Given the description of an element on the screen output the (x, y) to click on. 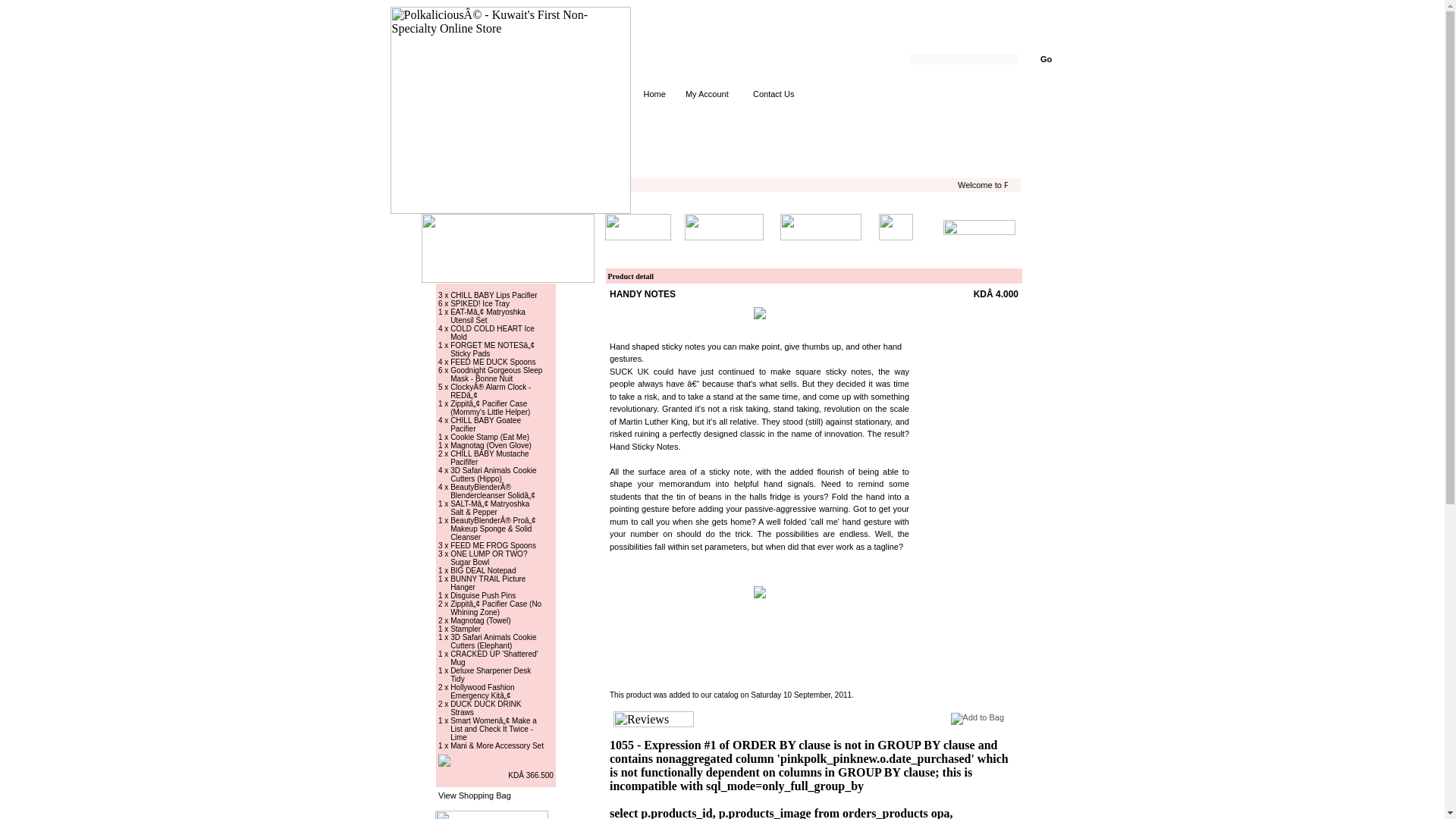
ONE LUMP OR TWO? Sugar Bowl (488, 556)
FEED ME FROG Spoons (492, 543)
FEED ME DUCK Spoons (492, 359)
CRACKED UP 'Shattered' Mug (493, 656)
SPIKED! Ice Tray (479, 301)
Home (654, 93)
BIG DEAL Notepad (482, 568)
 Add to Bag  (977, 718)
Contact Us (772, 93)
Deluxe Sharpener Desk Tidy (490, 672)
